Given the description of an element on the screen output the (x, y) to click on. 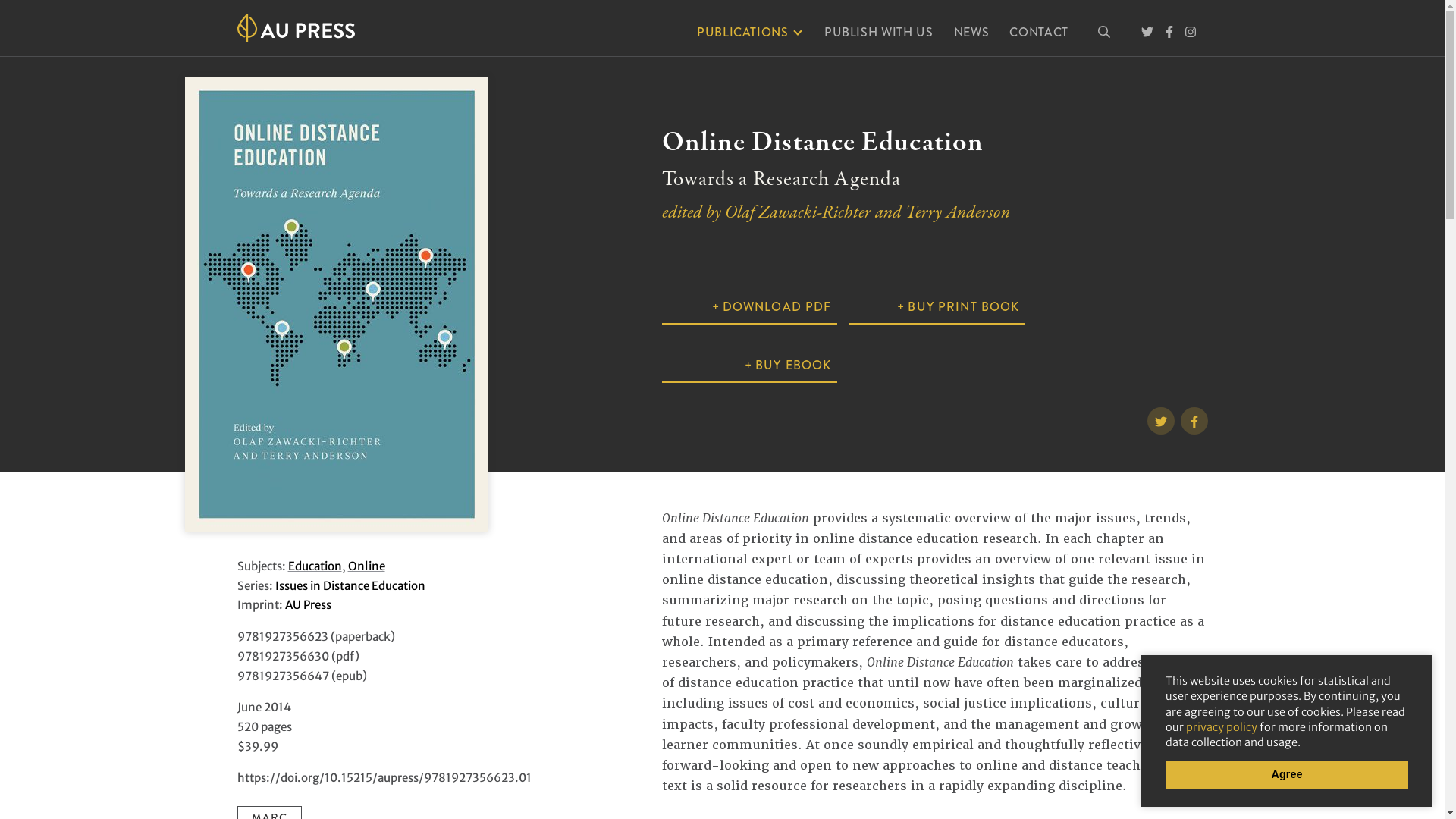
PUBLISH WITH US Element type: text (878, 32)
Instagram Element type: text (1189, 32)
DOWNLOAD PDF Element type: text (749, 307)
BUY EBOOK Element type: text (749, 365)
Twitter Element type: text (1146, 32)
Share this on Twitter Element type: text (1193, 420)
Education Element type: text (315, 565)
Issues in Distance Education Element type: text (349, 585)
Athabasca University Press Element type: text (295, 27)
Facebook Element type: text (1168, 32)
privacy policy Element type: text (1221, 727)
Agree Element type: text (1286, 774)
Online Element type: text (365, 565)
NEWS Element type: text (971, 32)
PUBLICATIONS Element type: text (749, 32)
AU Press Element type: text (308, 604)
BUY PRINT BOOK Element type: text (937, 307)
Share this on Twitter Element type: text (1159, 420)
CONTACT Element type: text (1038, 32)
SEARCH Element type: text (1103, 32)
